Given the description of an element on the screen output the (x, y) to click on. 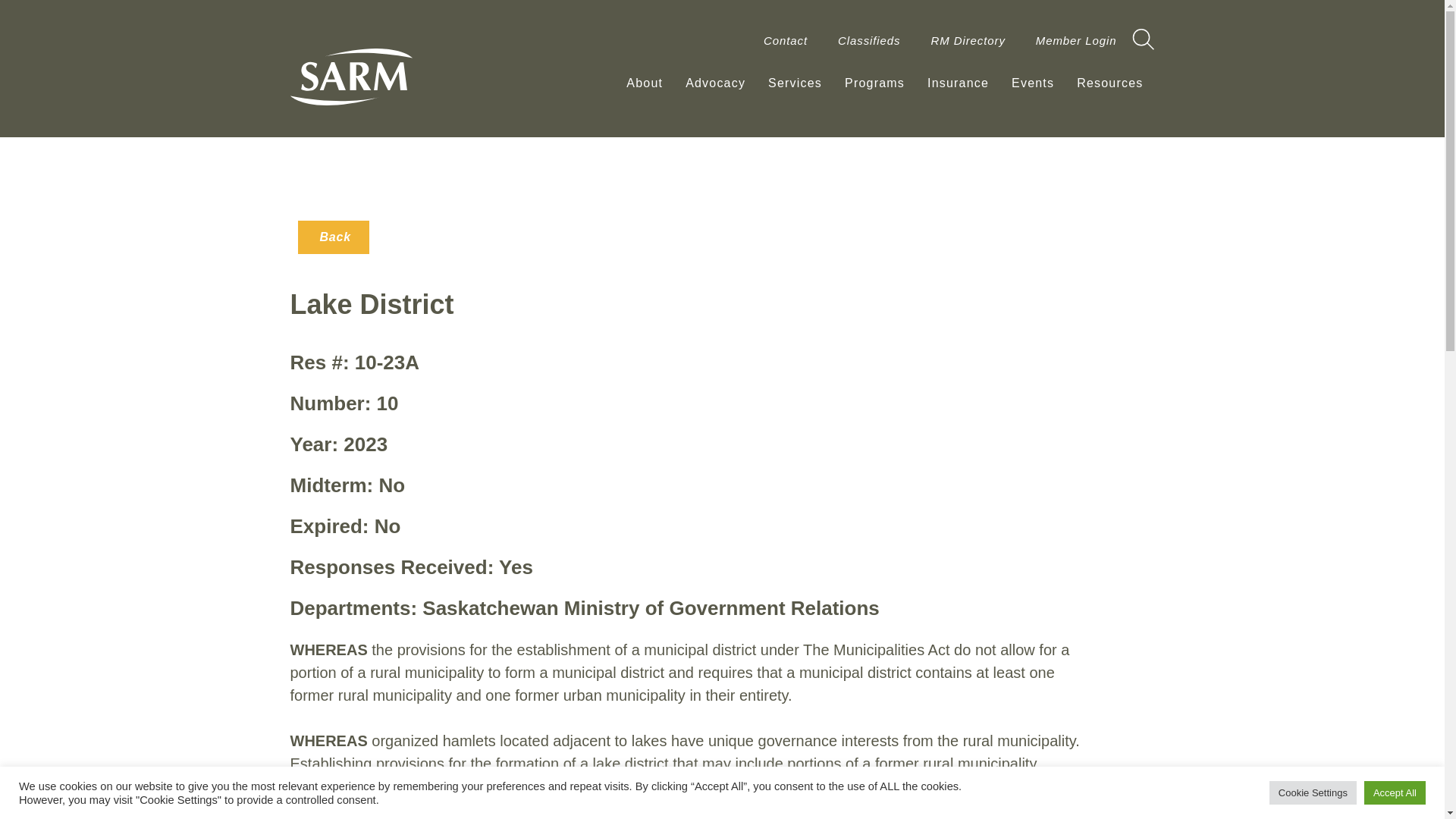
Member Login (1076, 41)
Contact (785, 41)
RM Directory (967, 41)
Classifieds (868, 41)
